Given the description of an element on the screen output the (x, y) to click on. 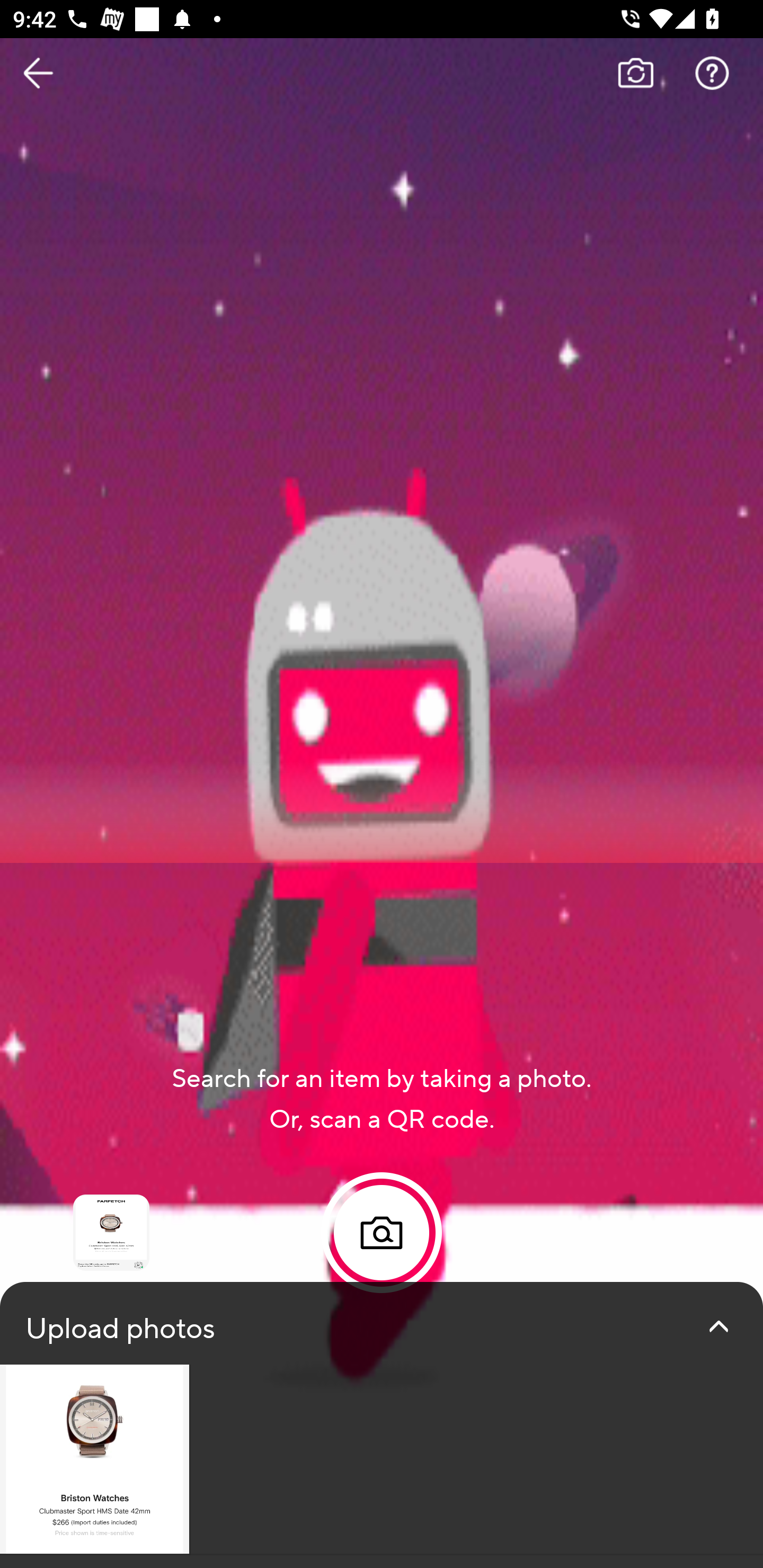
Upload photos  (381, 1425)
 (718, 1326)
